Given the description of an element on the screen output the (x, y) to click on. 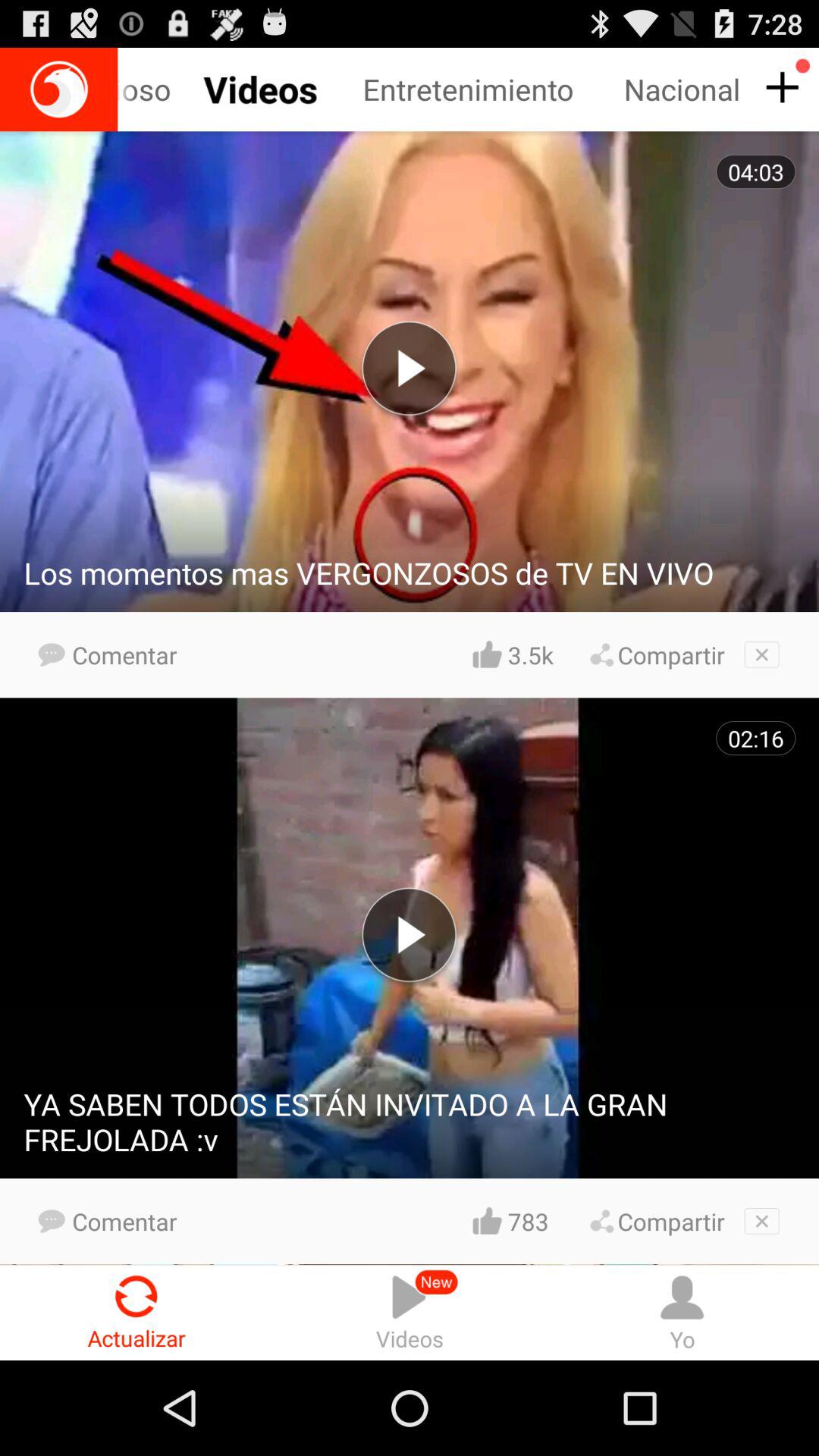
click the item next to the entretenimiento (169, 89)
